Given the description of an element on the screen output the (x, y) to click on. 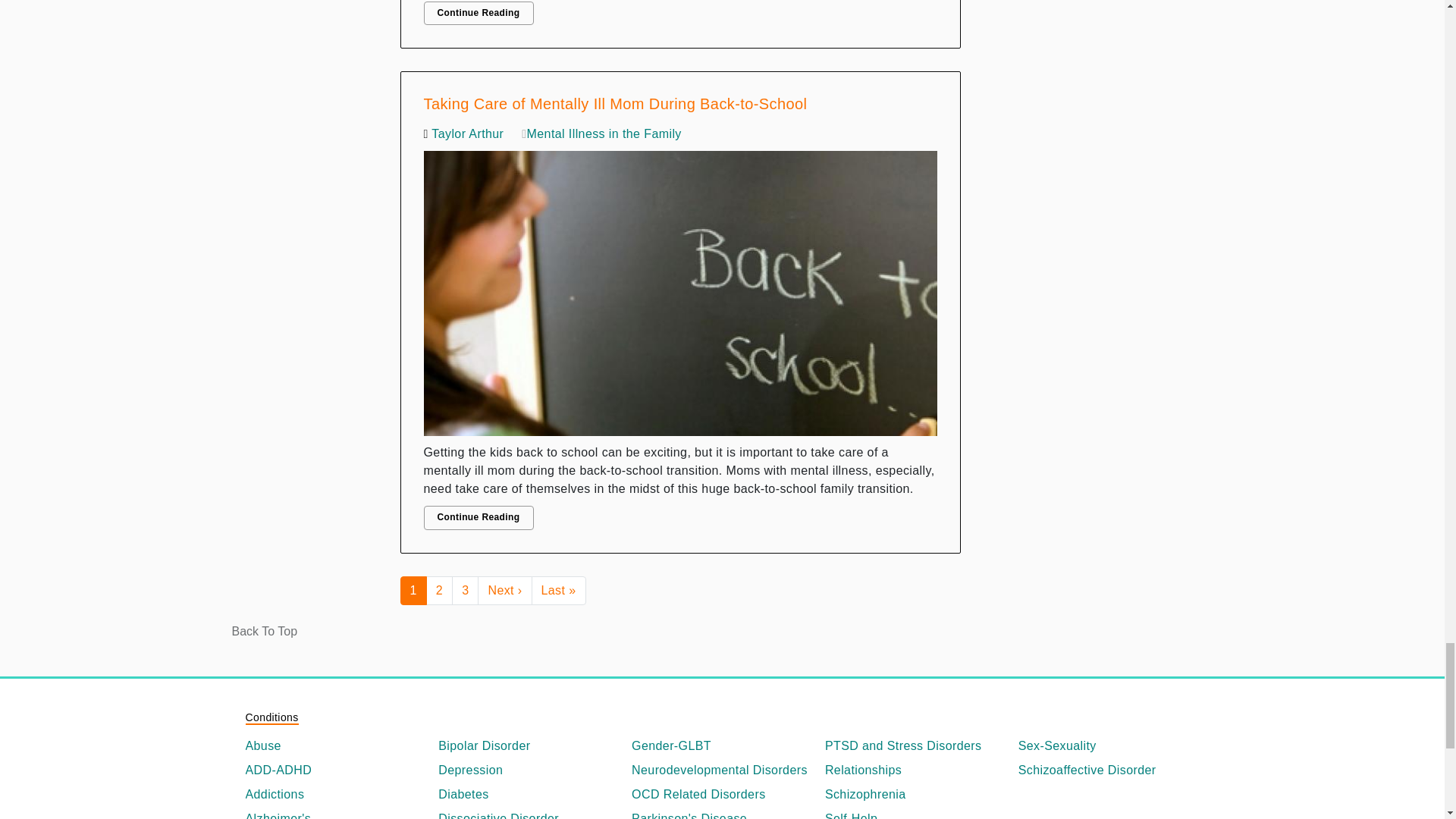
Current page (413, 590)
Go to page 3 (465, 590)
Parkinson's Disease Information Articles (721, 814)
Go to next page (504, 590)
Go to page 2 (439, 590)
Go to last page (558, 590)
